Given the description of an element on the screen output the (x, y) to click on. 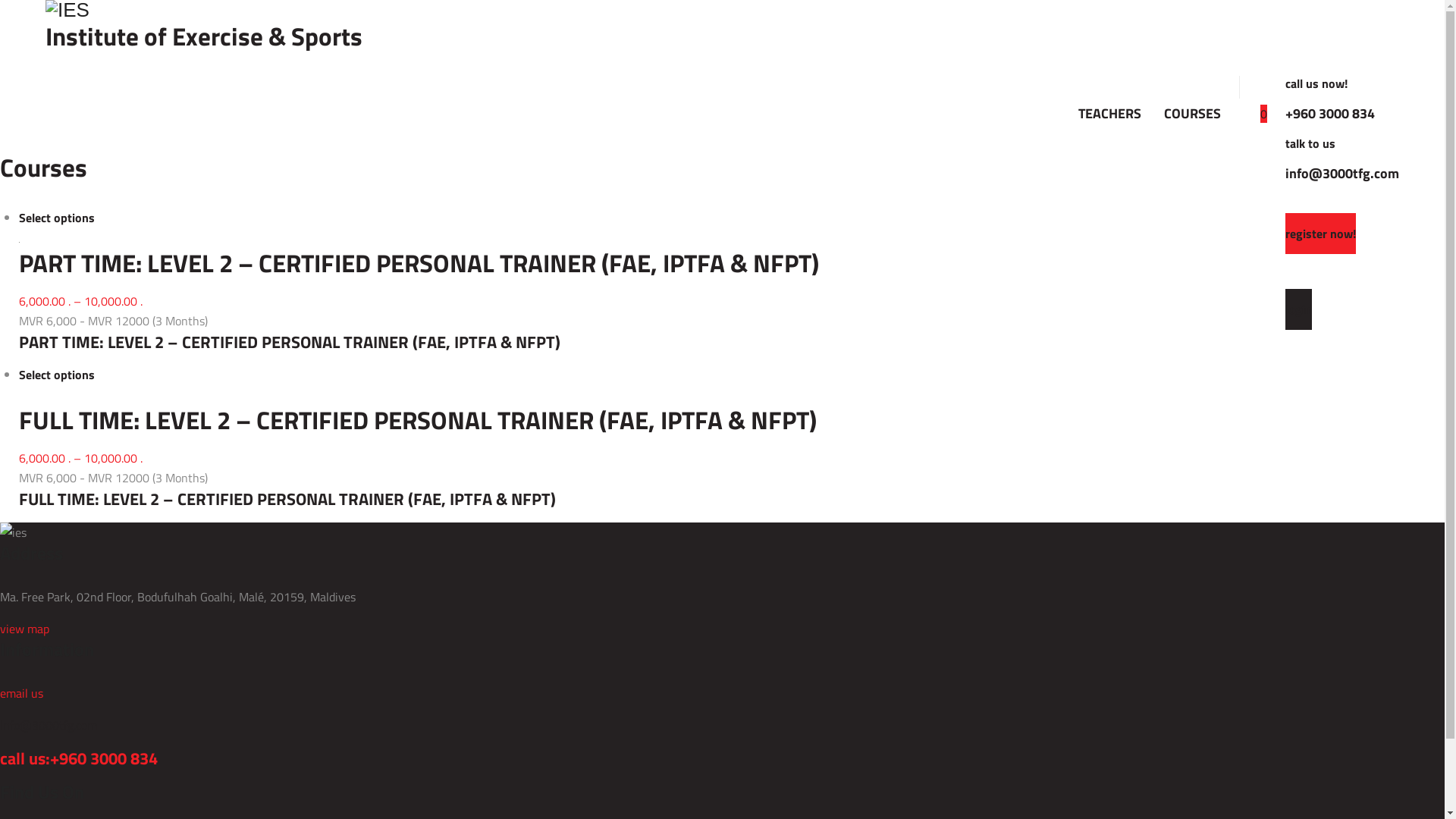
0 Element type: text (1263, 113)
Select options Element type: text (56, 374)
Select options Element type: text (56, 217)
info@3000tfg.com Element type: text (1342, 173)
+960 3000 834 Element type: text (1329, 113)
+960 3000 834 Element type: text (103, 758)
login Element type: text (1298, 308)
register now! Element type: text (1320, 233)
IES Element type: hover (722, 10)
COURSES Element type: text (1192, 113)
TEACHERS Element type: text (1109, 113)
info@3000tfg.com Element type: text (48, 724)
view map Element type: text (24, 628)
